Given the description of an element on the screen output the (x, y) to click on. 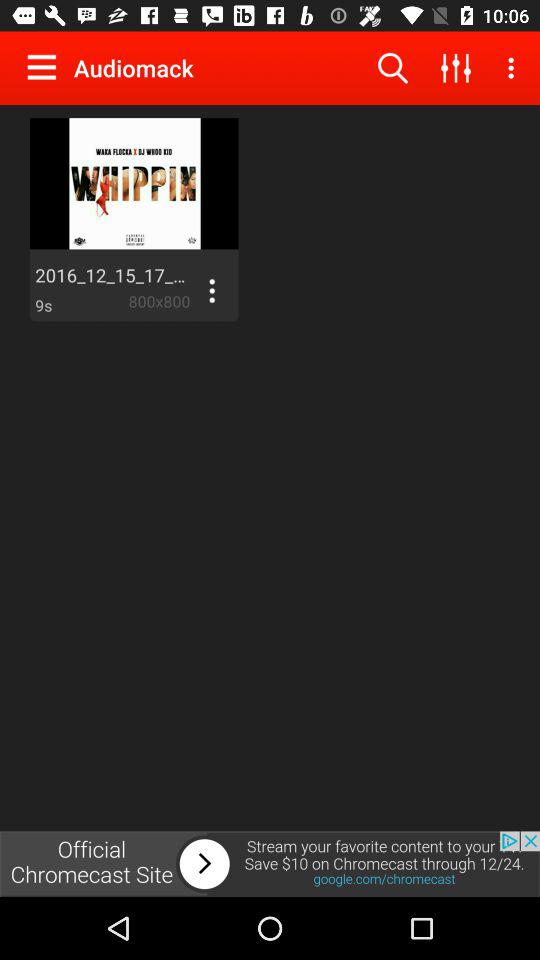
go to advertising partner (270, 864)
